Given the description of an element on the screen output the (x, y) to click on. 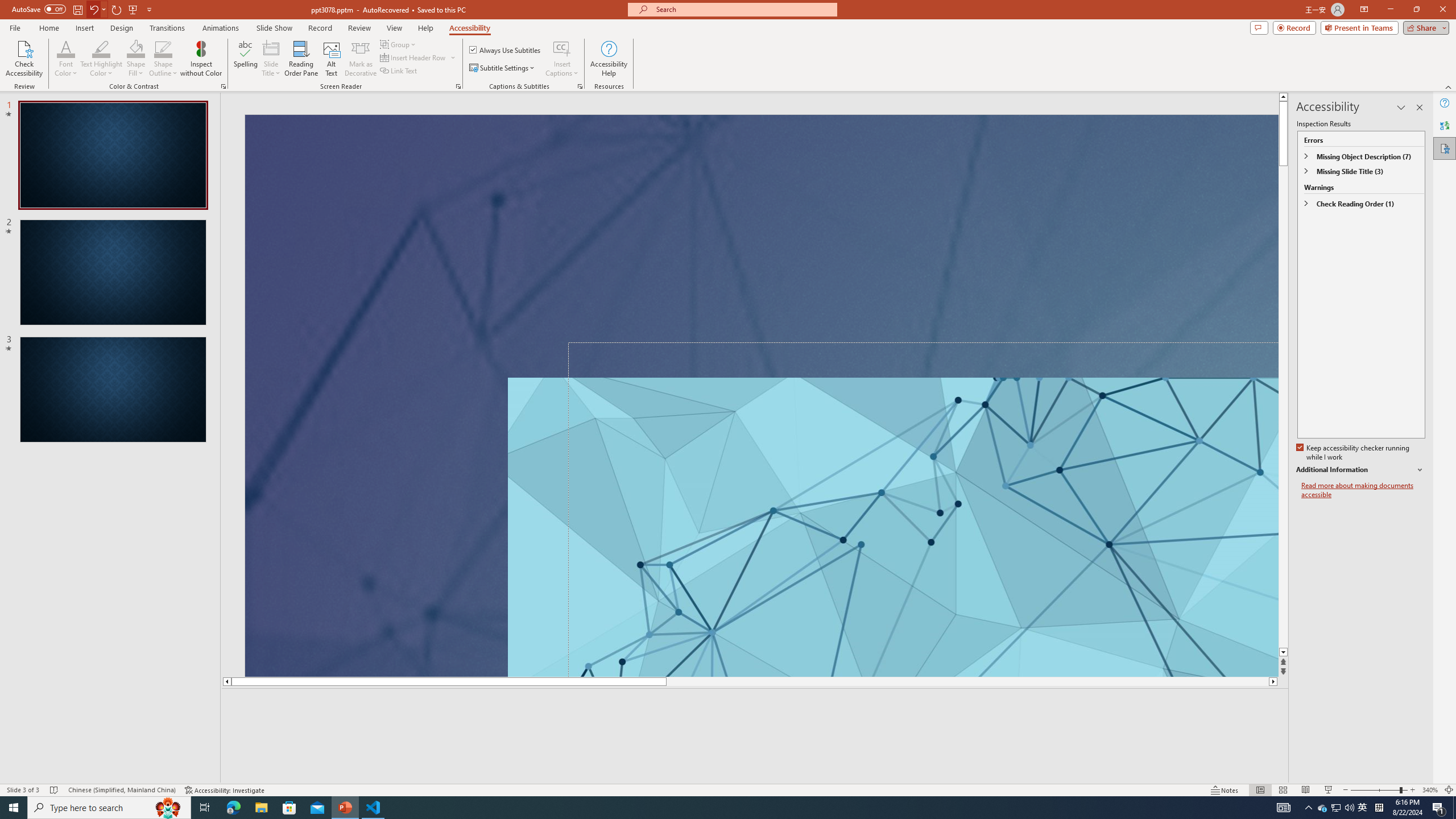
Inspect without Color (201, 58)
Link Text (399, 69)
